Given the description of an element on the screen output the (x, y) to click on. 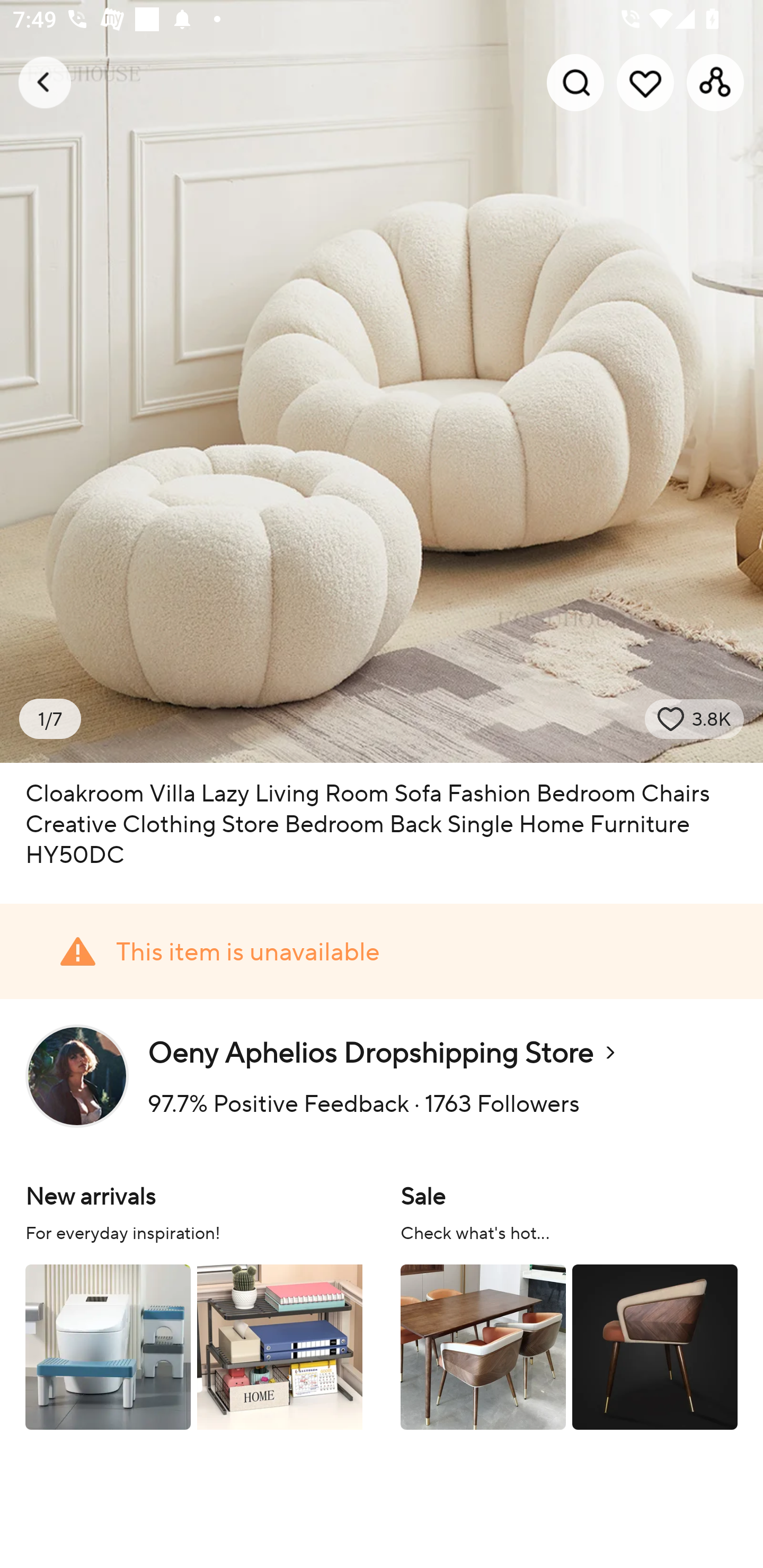
Navigate up (44, 82)
wish state 3.8K (693, 718)
New arrivals For everyday inspiration!  (193, 1304)
Sale Check what's hot... (568, 1304)
